Given the description of an element on the screen output the (x, y) to click on. 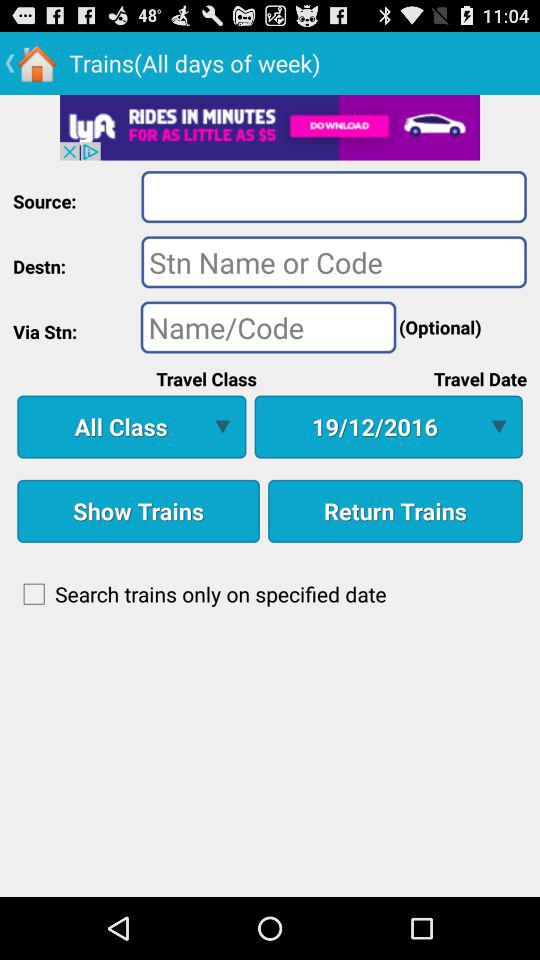
give name/code detail (268, 327)
